Given the description of an element on the screen output the (x, y) to click on. 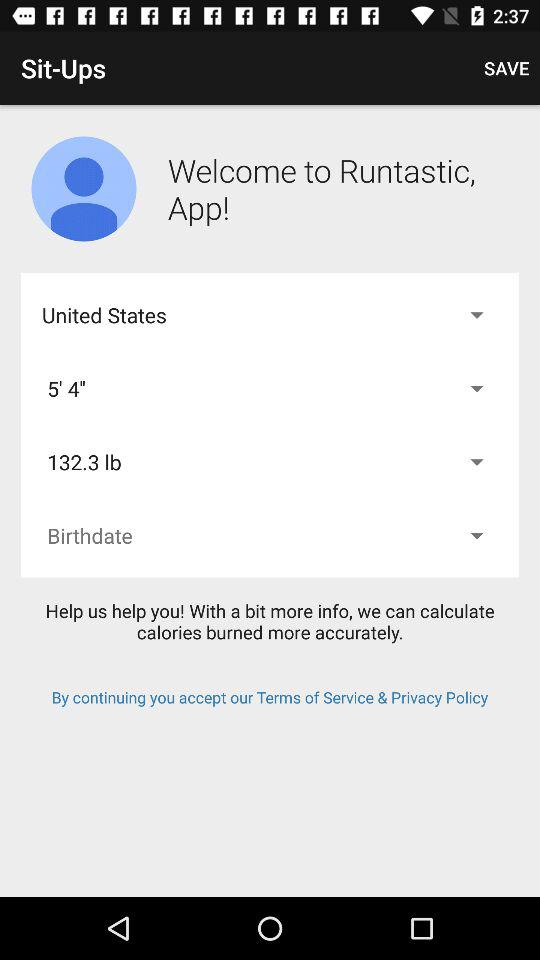
enter birthdate (269, 535)
